Given the description of an element on the screen output the (x, y) to click on. 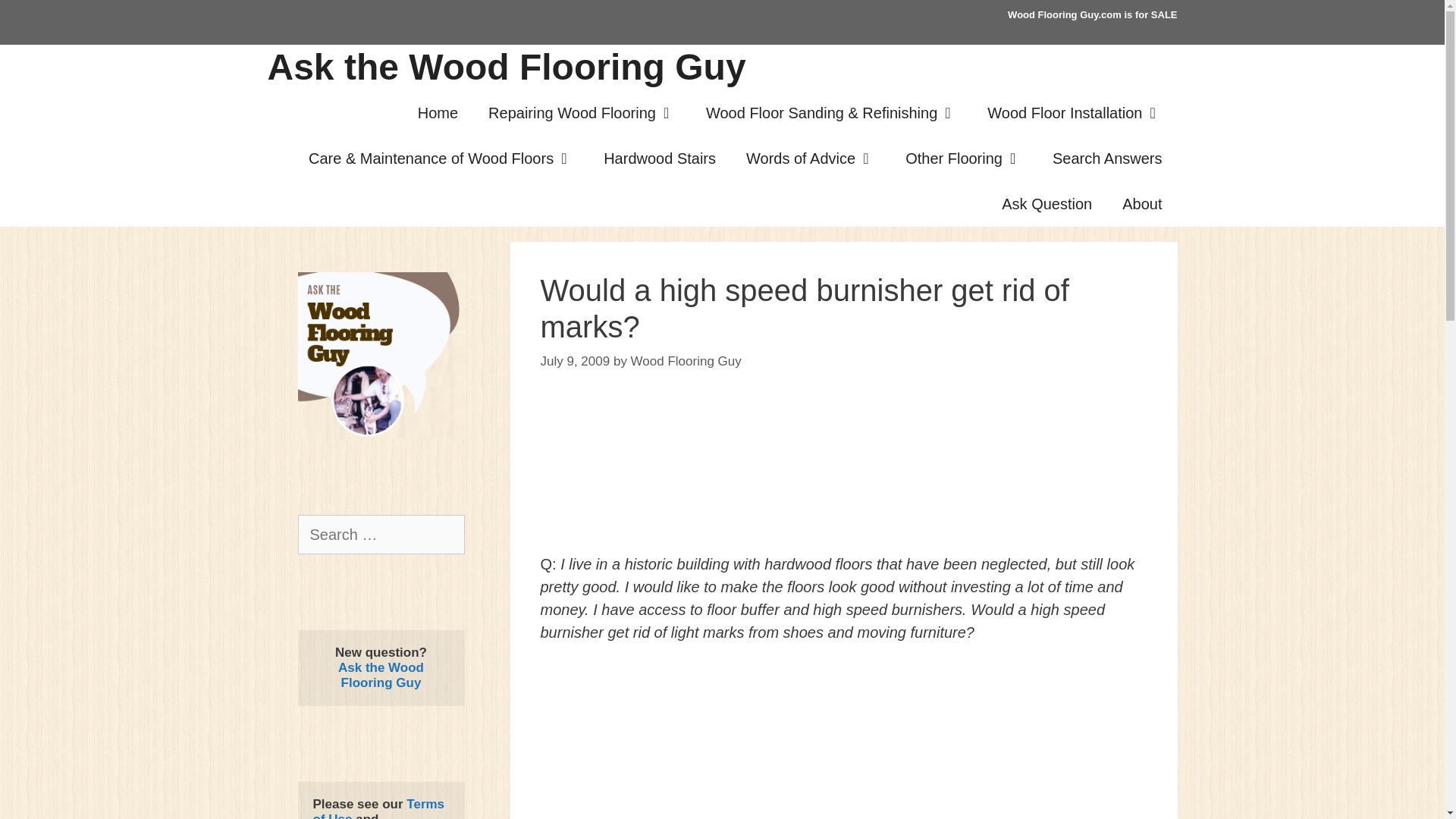
Wood Flooring Guy.com is for SALE (1091, 14)
View all posts by Wood Flooring Guy (685, 359)
Search for: (380, 534)
Advertisement (843, 742)
Advertisement (843, 476)
